Given the description of an element on the screen output the (x, y) to click on. 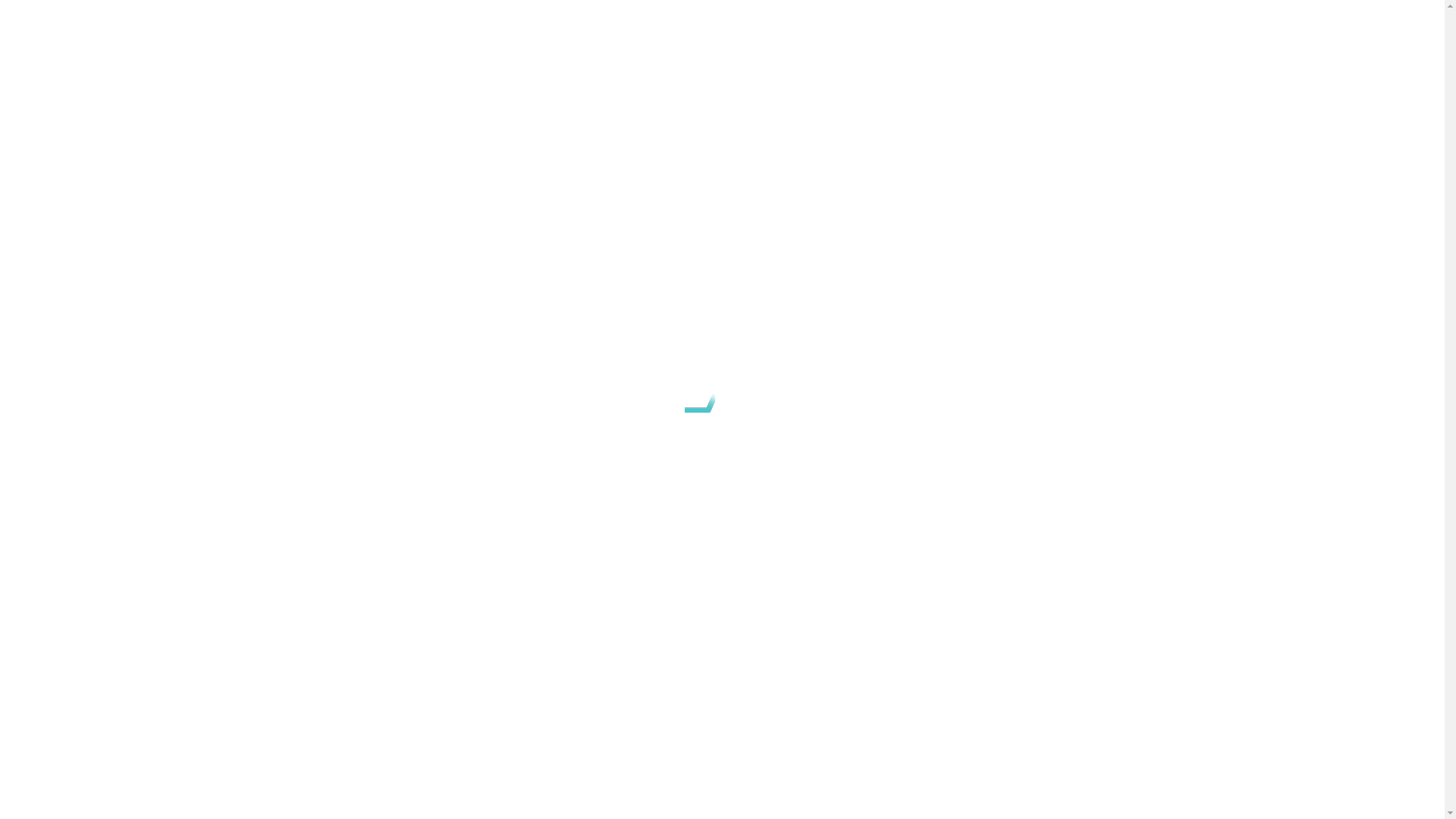
Home Element type: text (466, 45)
Subscribe Element type: text (943, 663)
Devenez membre Element type: text (947, 45)
Accueil Element type: text (265, 272)
Exercise Medicine Element type: text (544, 45)
O'Smoz Fitness Centre Element type: text (621, 661)
Guillaume Bassem Photography Element type: text (553, 794)
Da Vinci Fitness & Wellness Bierges Element type: text (648, 630)
Clos Lamartine 7, 1420 Braine L'Alleud Element type: text (391, 651)
0474/626762 Element type: text (278, 667)
0484/450374 Element type: text (278, 621)
Rue Provinciale 215, 1301 Bierges Element type: text (361, 606)
Da Vinci Fitness & Wellness Waterloo Element type: text (653, 645)
Rue de Ciney 14, 5350 Ohey Element type: text (342, 697)
Infrastructures Element type: text (783, 45)
